Given the description of an element on the screen output the (x, y) to click on. 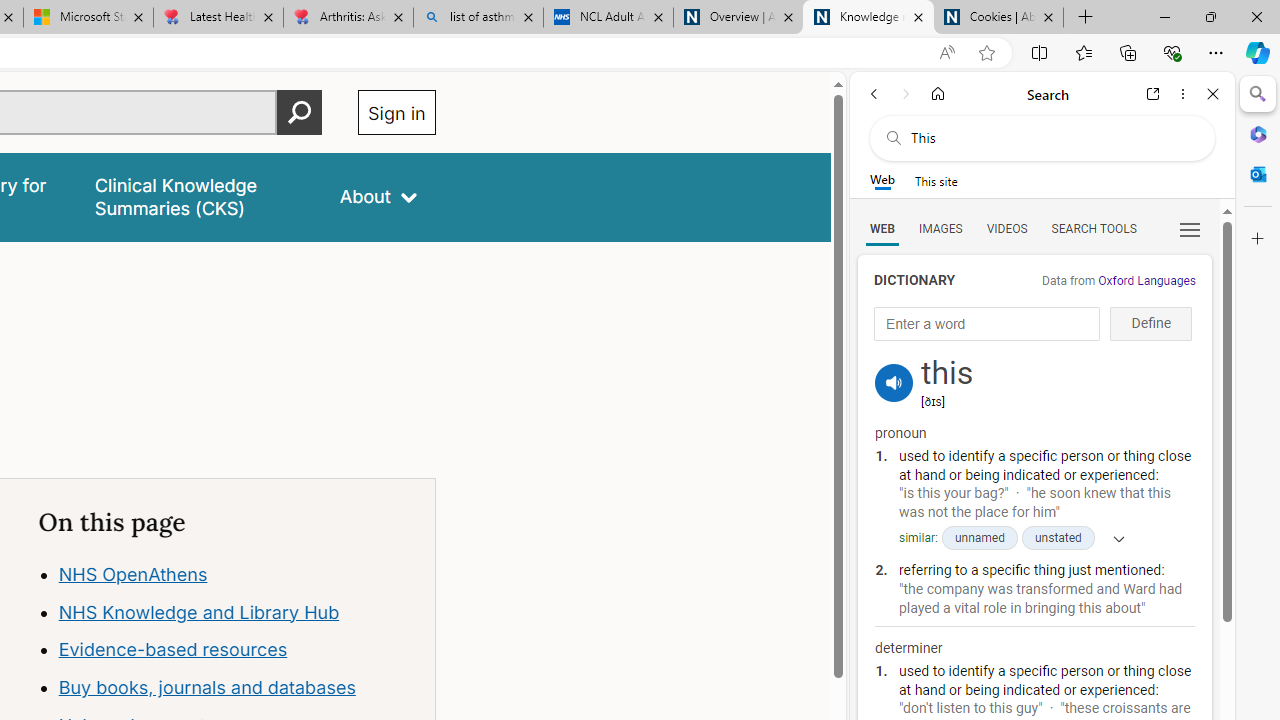
unstated (1057, 538)
Link for logging (893, 359)
